Given the description of an element on the screen output the (x, y) to click on. 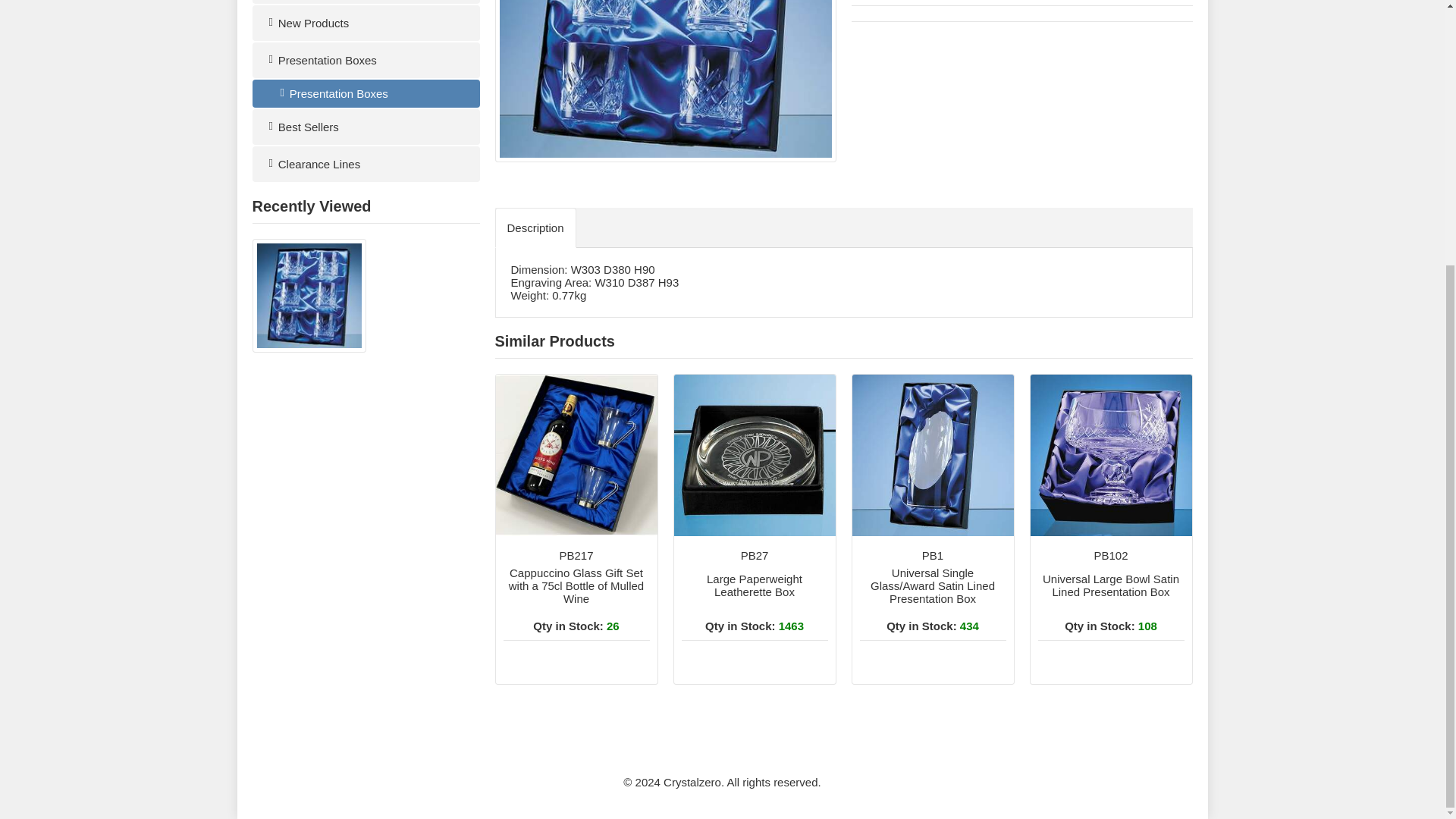
Clearance Lines (365, 163)
Presentation Boxes (365, 59)
Awards (754, 609)
New Products (365, 2)
Large Paperweight Leatherette Box (365, 22)
Universal Large Bowl Satin Lined Presentation Box (753, 455)
Presentation Boxes (1110, 455)
Cappuccino Glass Gift Set with a 75cl Bottle of Mulled Wine (365, 93)
Large Paperweight Leatherette Box (577, 455)
Best Sellers (754, 609)
Cappuccino Glass Gift Set with a 75cl Bottle of Mulled Wine (365, 126)
Universal Large Bowl Satin Lined Presentation Box (576, 609)
Description (1109, 609)
